Given the description of an element on the screen output the (x, y) to click on. 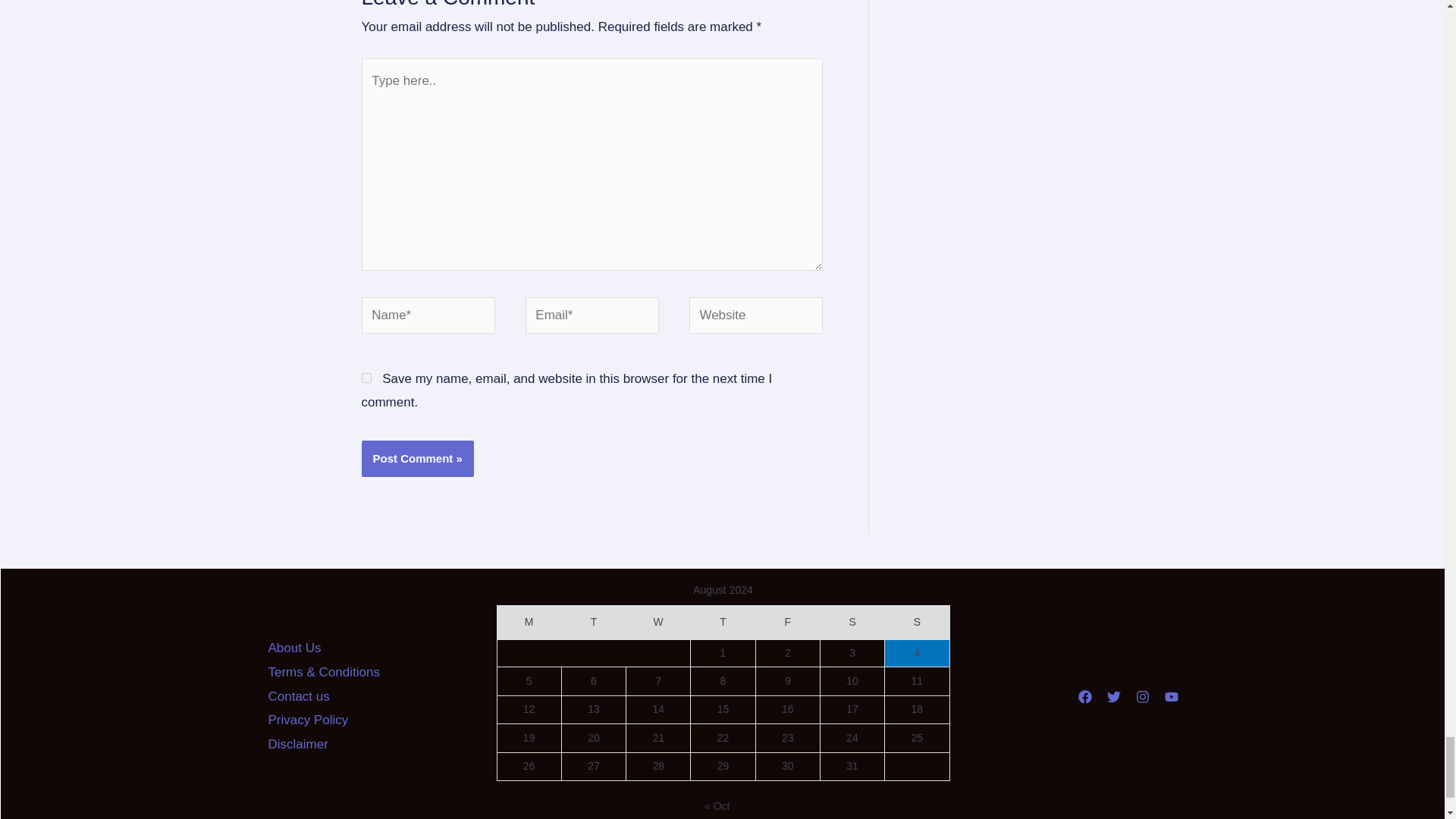
Monday (528, 622)
yes (366, 378)
Sunday (917, 622)
Tuesday (593, 622)
Thursday (722, 622)
Friday (787, 622)
Wednesday (658, 622)
Saturday (851, 622)
